Given the description of an element on the screen output the (x, y) to click on. 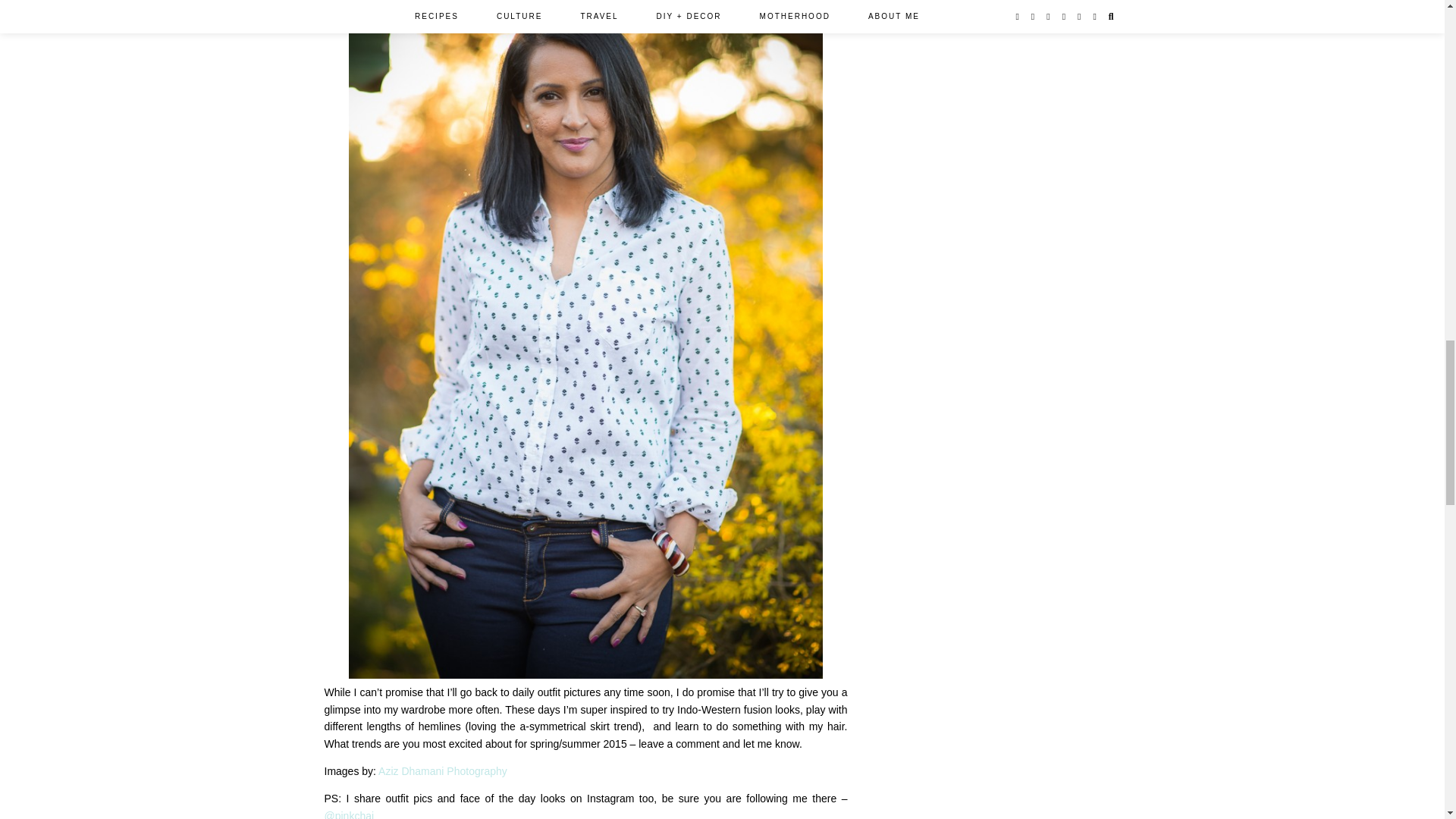
Aziz Dhamani Photography (442, 770)
